Given the description of an element on the screen output the (x, y) to click on. 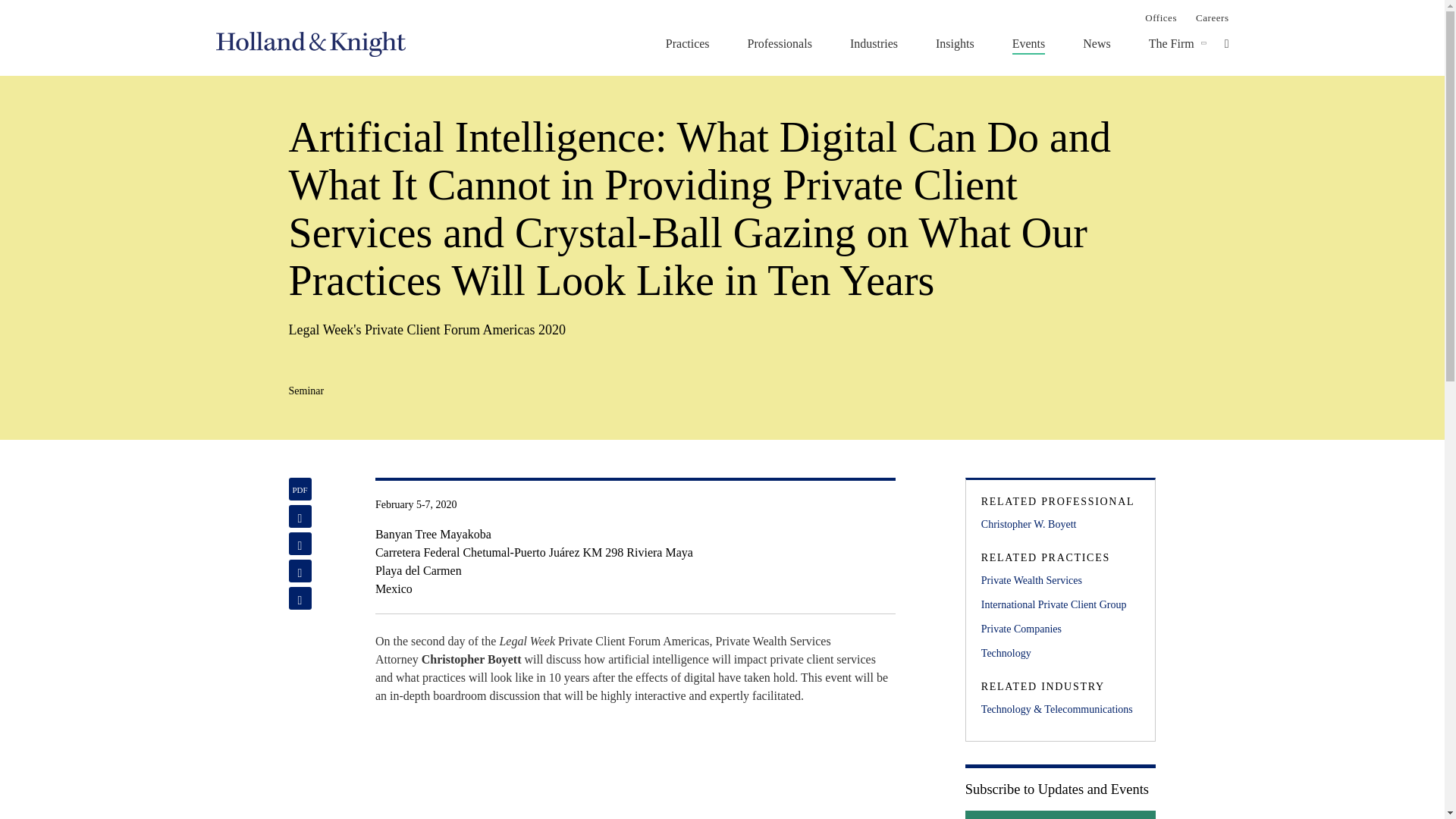
The Firm (1170, 43)
News (1096, 42)
International Private Client Group (1060, 605)
Practices (687, 42)
Events (1028, 42)
Careers (1211, 16)
Insights (955, 42)
Offices (1160, 16)
Professionals (780, 42)
Private Wealth Services (1060, 580)
Industries (874, 42)
Christopher W. Boyett (1060, 524)
Private Companies (1060, 629)
